Given the description of an element on the screen output the (x, y) to click on. 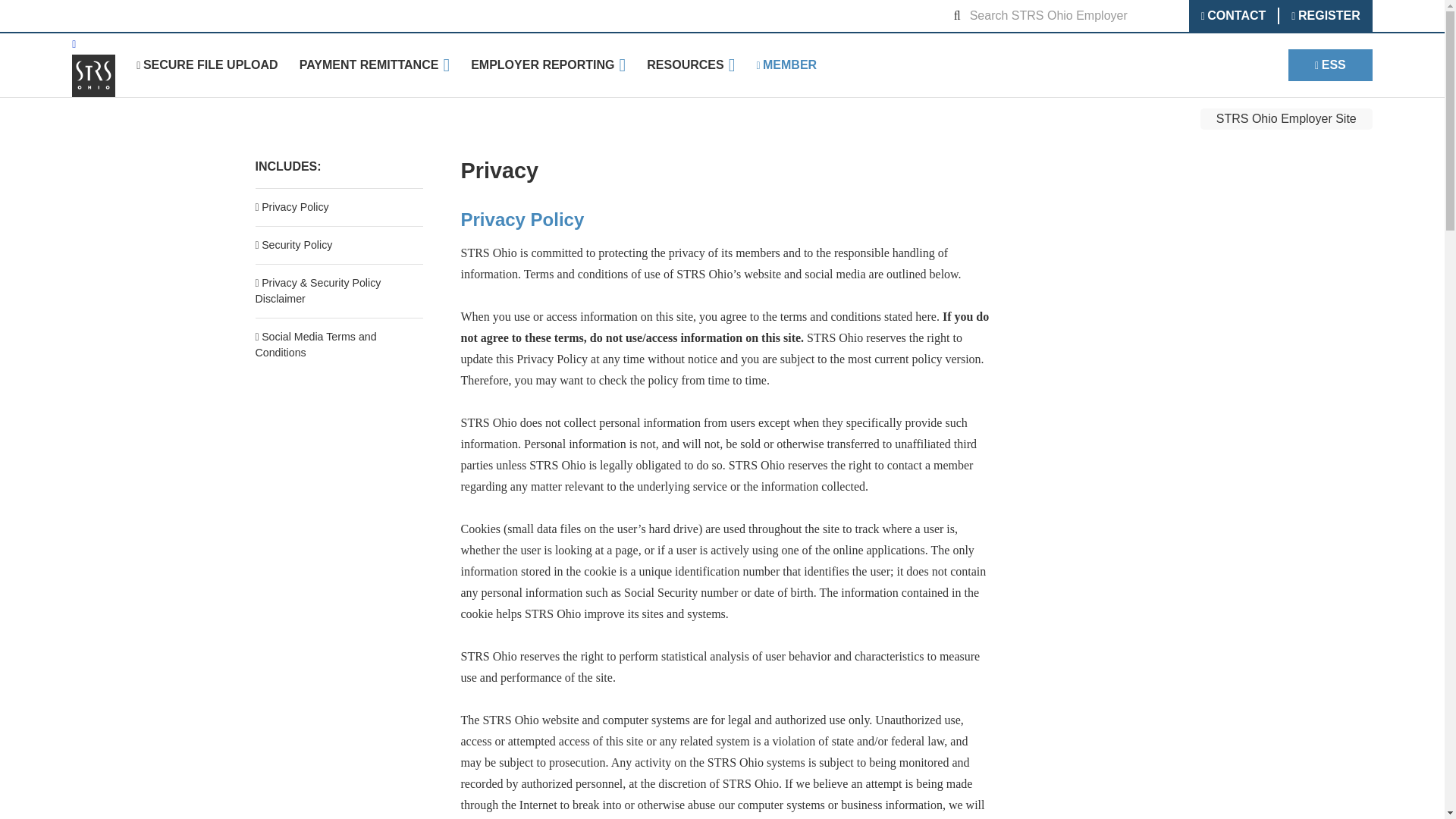
Social Media Terms and Conditions (314, 344)
SECURE FILE UPLOAD (207, 65)
Security Policy (292, 244)
ESS (1330, 65)
REGISTER (1324, 15)
Privacy Policy (291, 206)
MEMBER (785, 65)
CONTACT (1233, 15)
